Given the description of an element on the screen output the (x, y) to click on. 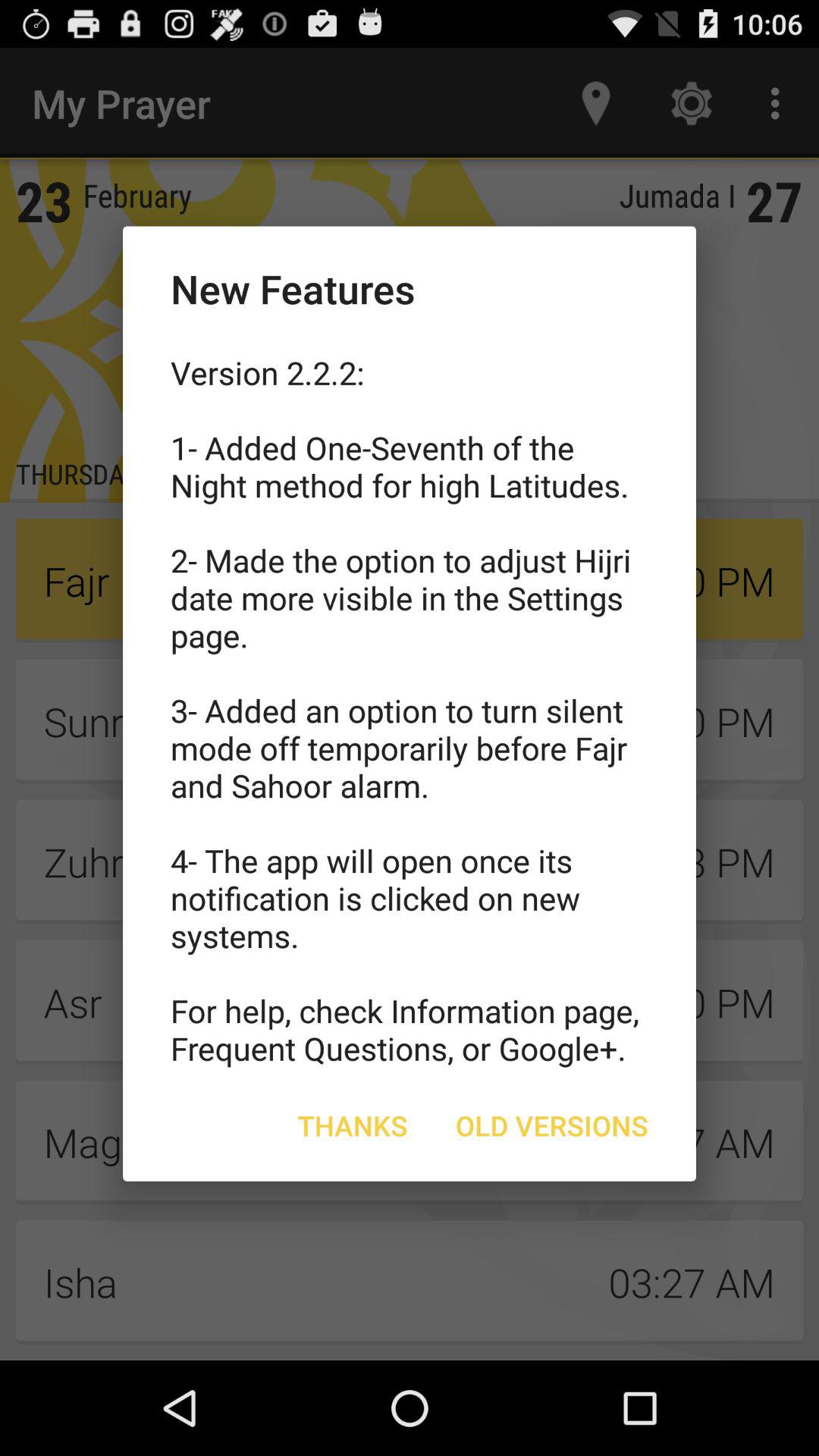
press item below version 2 2 icon (352, 1125)
